Given the description of an element on the screen output the (x, y) to click on. 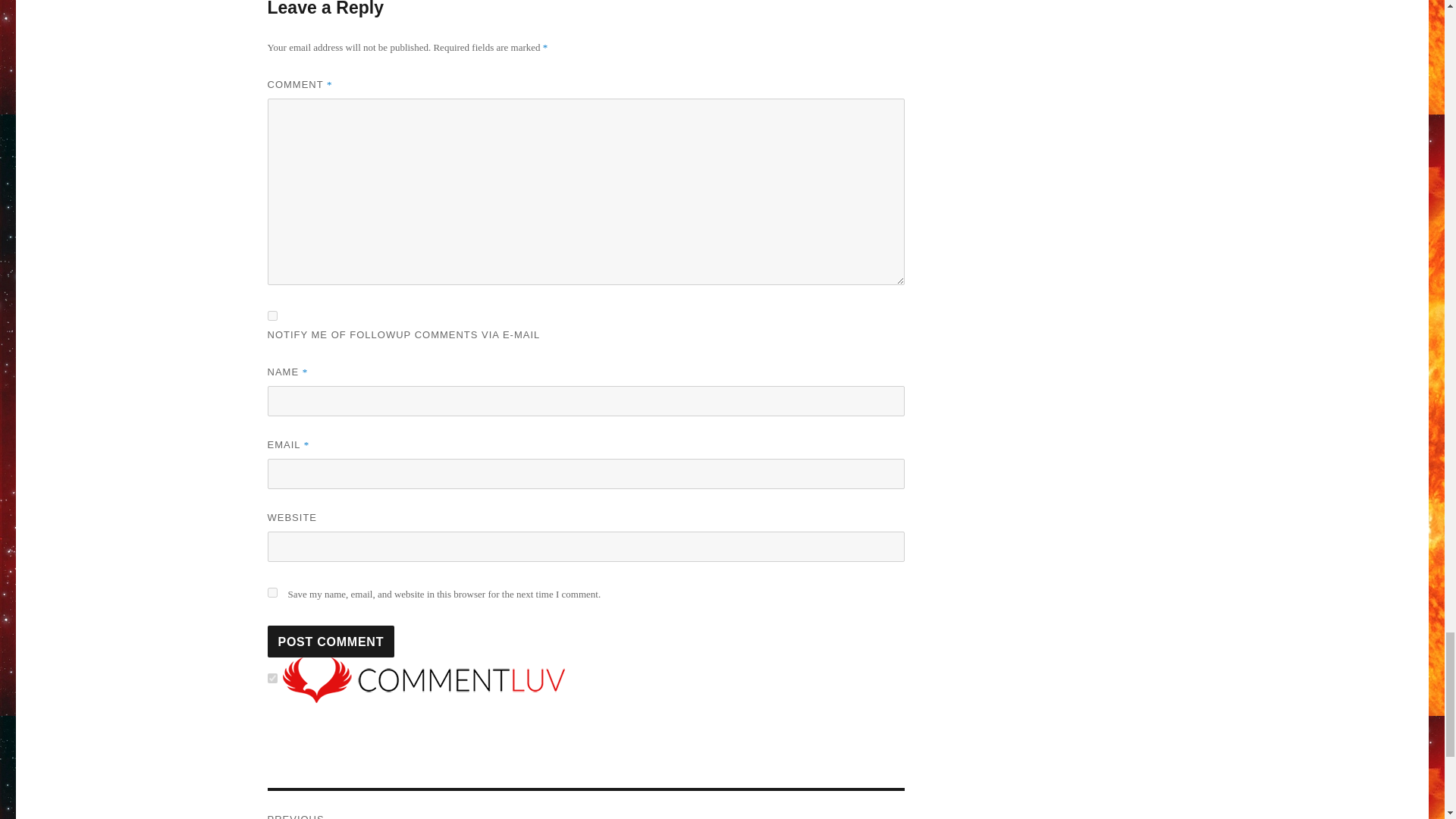
CommentLuv is enabled (423, 678)
yes (271, 592)
on (271, 678)
Post Comment (330, 641)
subscribe (271, 316)
Post Comment (585, 805)
